Given the description of an element on the screen output the (x, y) to click on. 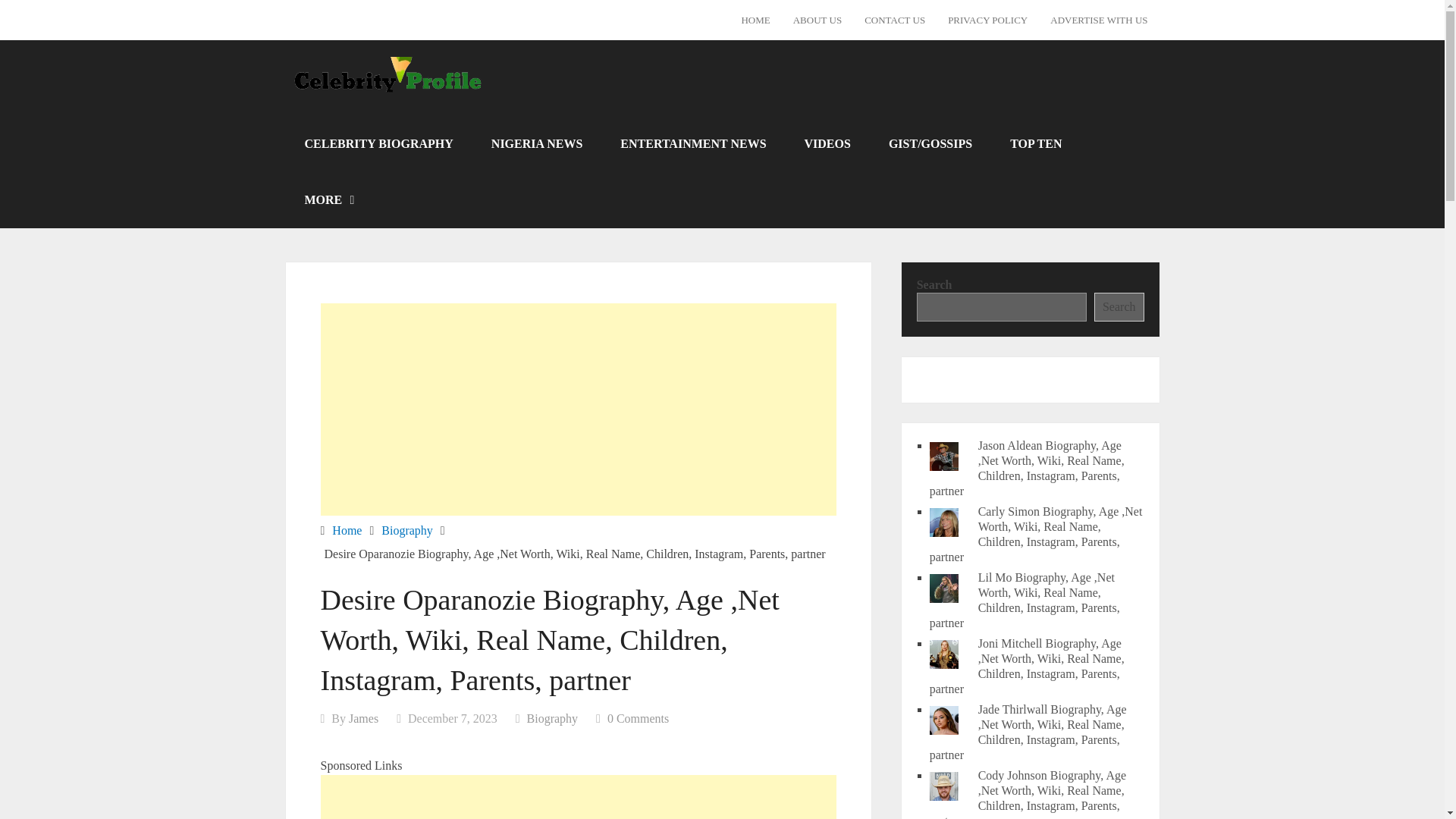
Search (1119, 306)
Home (346, 529)
NIGERIA NEWS (536, 143)
ABOUT US (817, 20)
James (363, 717)
ADVERTISE WITH US (1098, 20)
CONTACT US (894, 20)
